Given the description of an element on the screen output the (x, y) to click on. 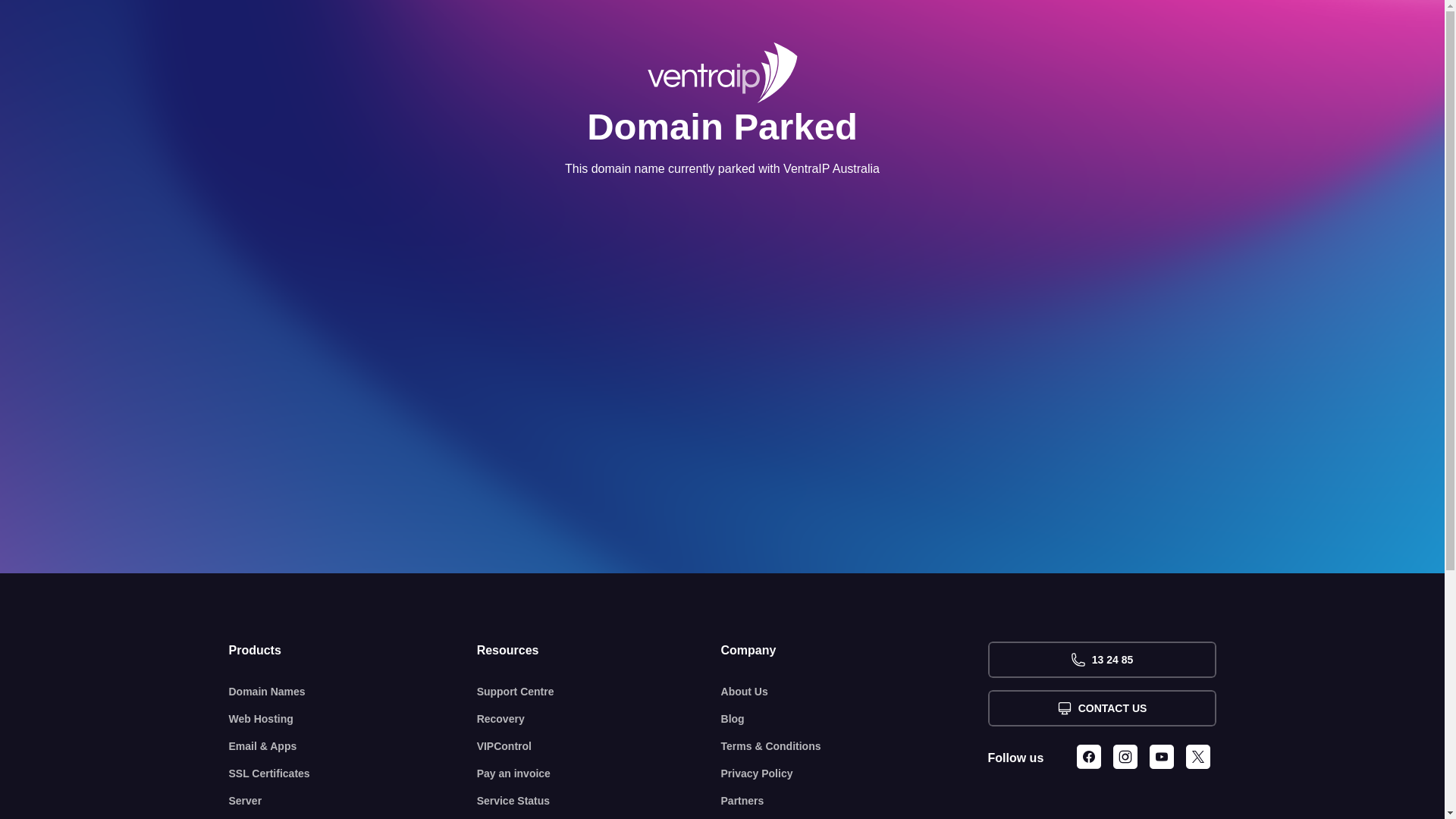
Domain Names Element type: text (352, 691)
Service Status Element type: text (598, 800)
Email & Apps Element type: text (352, 745)
Support Centre Element type: text (598, 691)
SSL Certificates Element type: text (352, 773)
About Us Element type: text (854, 691)
VIPControl Element type: text (598, 745)
Partners Element type: text (854, 800)
Web Hosting Element type: text (352, 718)
Blog Element type: text (854, 718)
CONTACT US Element type: text (1101, 708)
Privacy Policy Element type: text (854, 773)
Recovery Element type: text (598, 718)
Terms & Conditions Element type: text (854, 745)
13 24 85 Element type: text (1101, 659)
Server Element type: text (352, 800)
Pay an invoice Element type: text (598, 773)
